Given the description of an element on the screen output the (x, y) to click on. 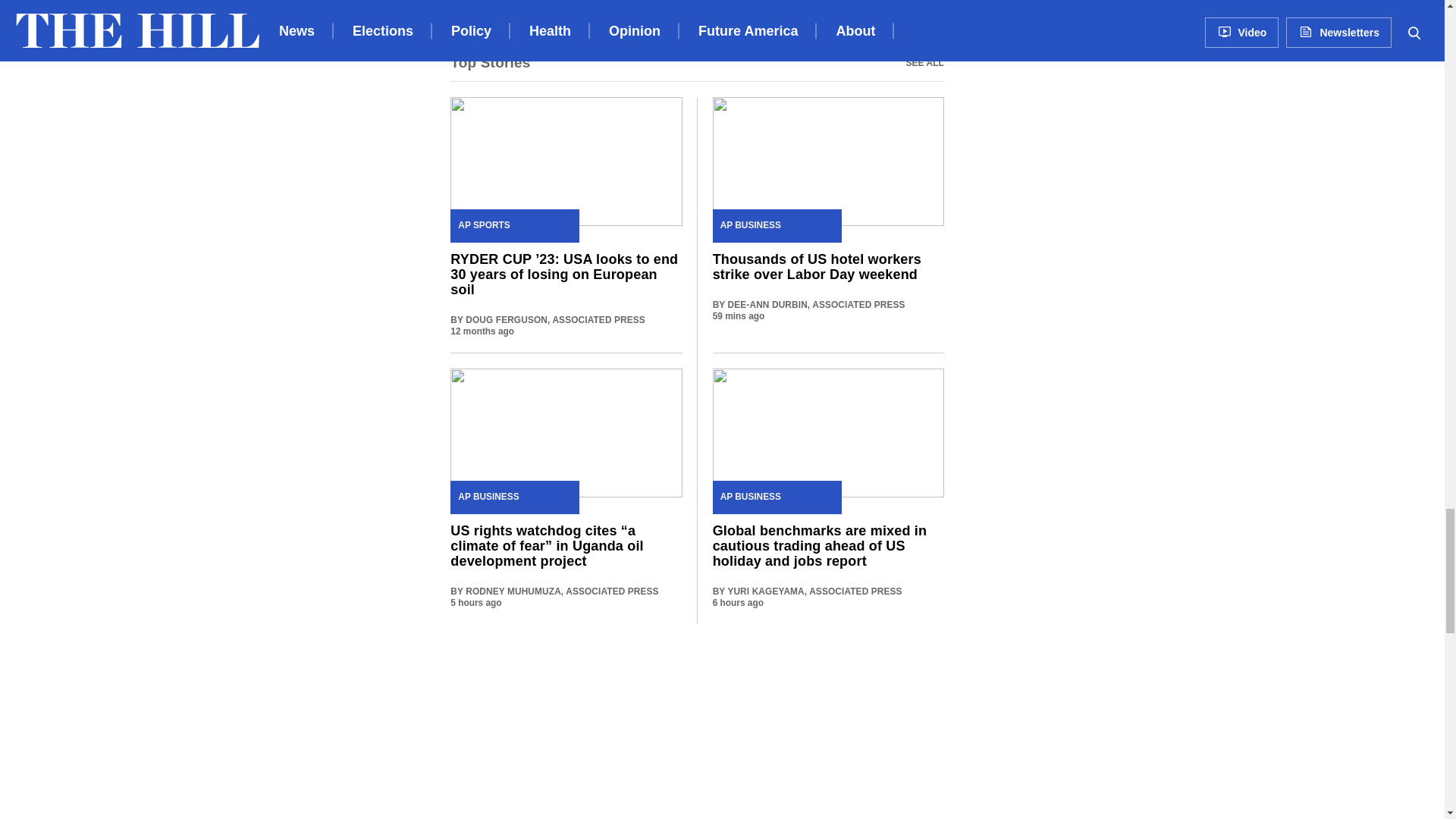
SEE ALL (924, 62)
Top Stories (489, 63)
SEE ALL (696, 61)
